Given the description of an element on the screen output the (x, y) to click on. 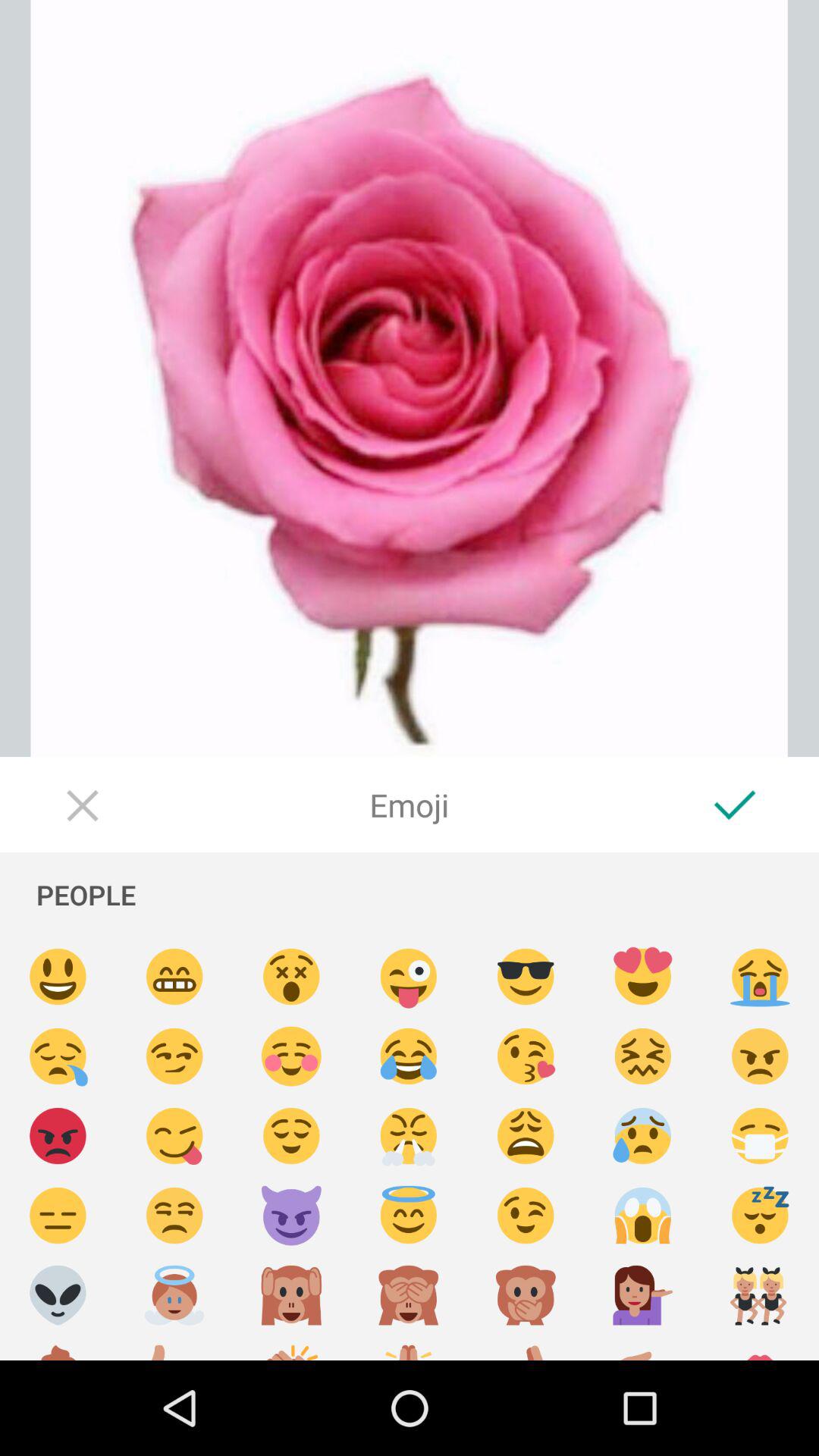
select emoji (760, 1215)
